Given the description of an element on the screen output the (x, y) to click on. 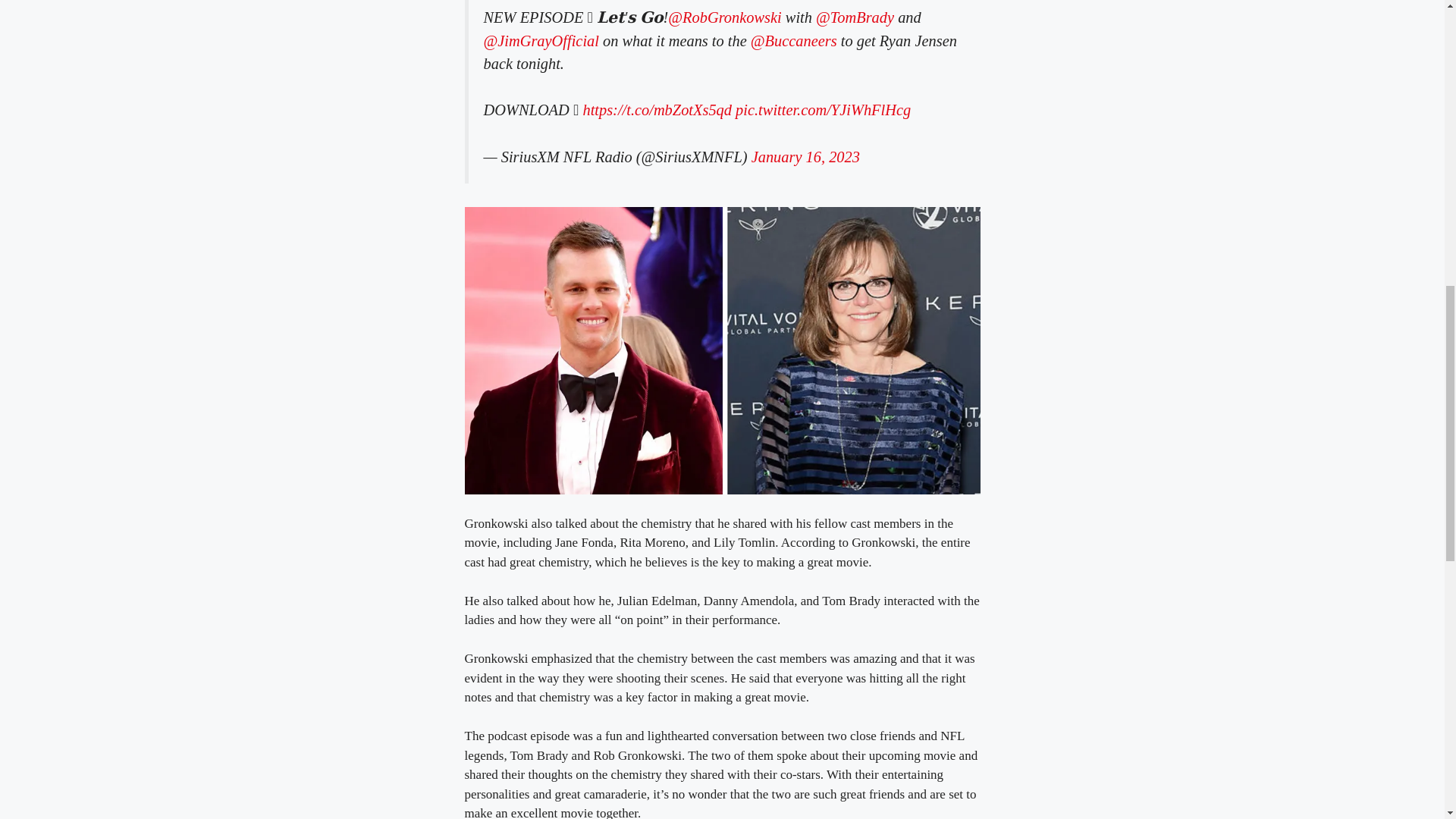
January 16, 2023 (805, 156)
